Given the description of an element on the screen output the (x, y) to click on. 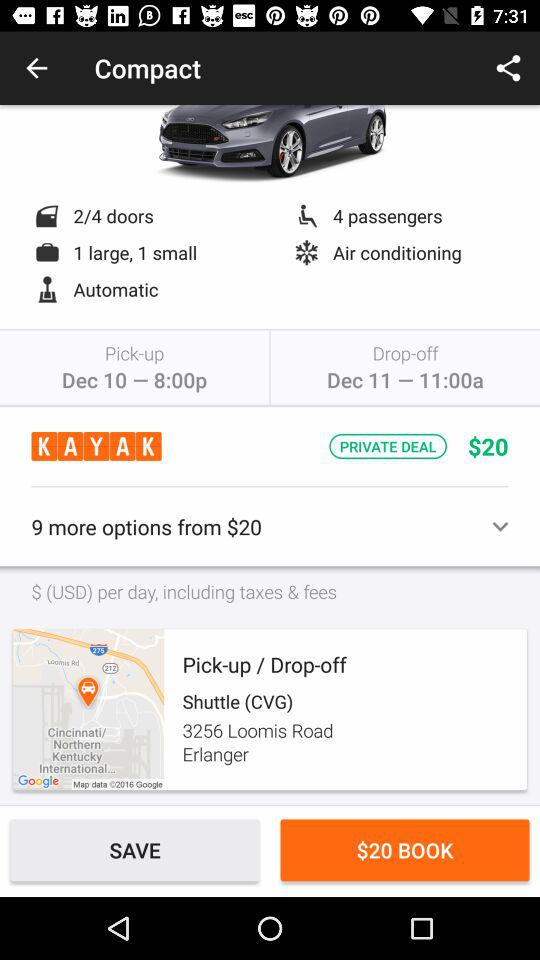
click the item to the left of the compact (36, 68)
